Given the description of an element on the screen output the (x, y) to click on. 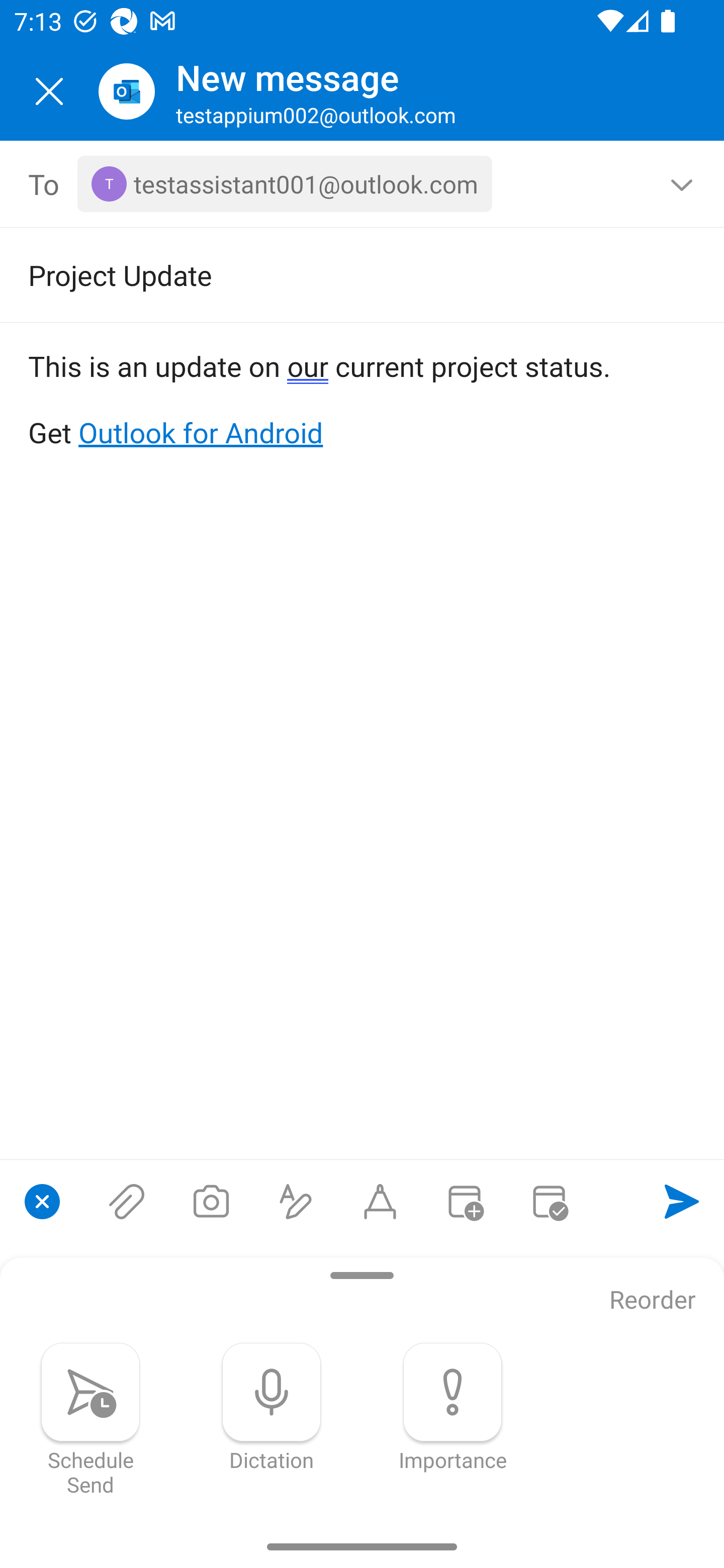
Close (49, 91)
To, 1 recipient <testassistant001@outlook.com> (362, 184)
Project Update (333, 274)
Close compose options (42, 1200)
Attach files (126, 1200)
Take a photo (210, 1200)
Show formatting options (295, 1200)
Start Ink compose (380, 1200)
Convert to event (464, 1200)
Send availability (548, 1200)
Send (681, 1200)
Reorder (652, 1300)
Schedule Send (90, 1419)
Dictation (271, 1406)
Importance (452, 1406)
